Given the description of an element on the screen output the (x, y) to click on. 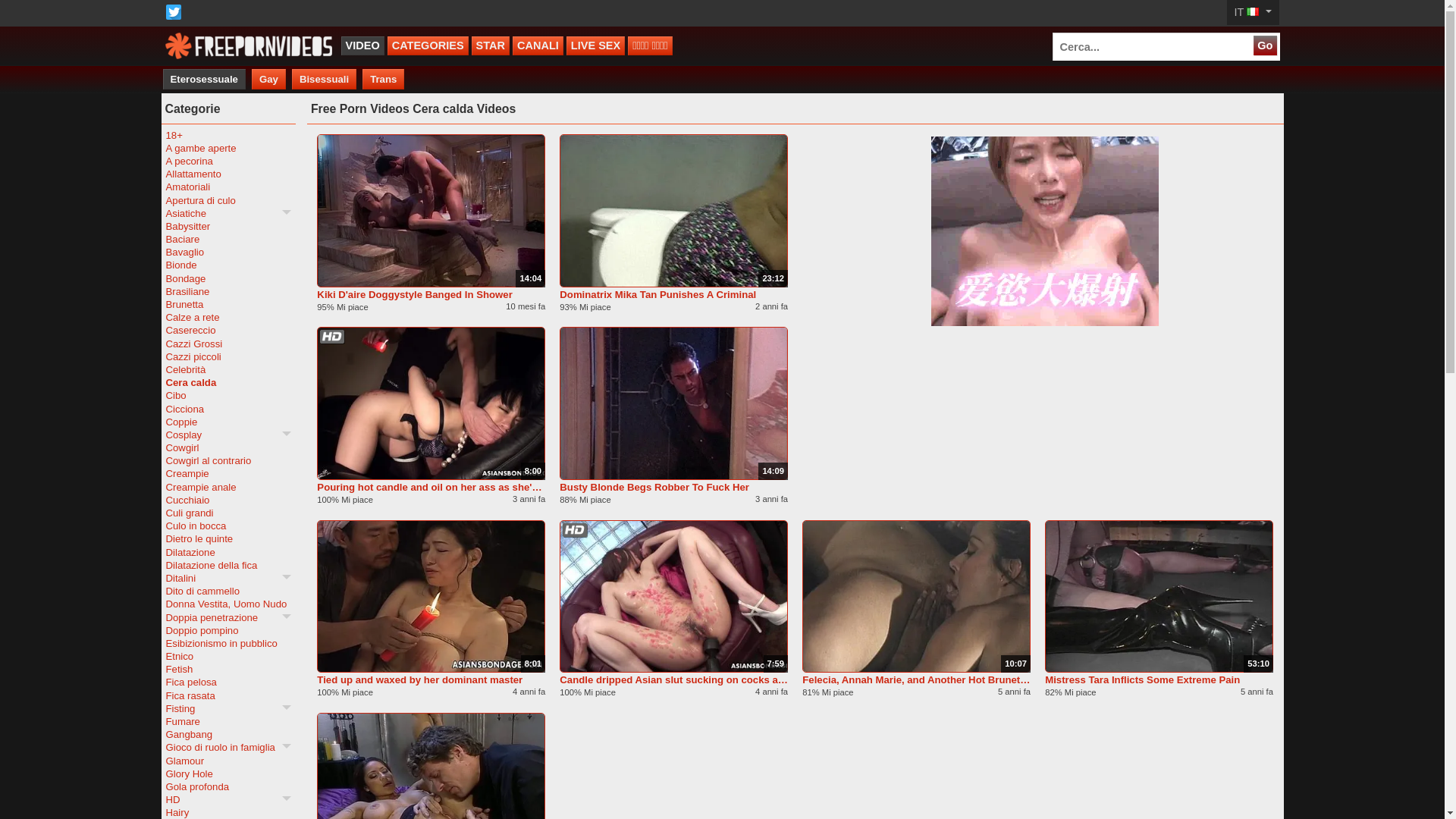
CATEGORIES Element type: text (427, 45)
Fetish Element type: text (228, 668)
Culi grandi Element type: text (228, 512)
Gay Element type: text (268, 79)
Coppie Element type: text (228, 421)
Creampie anale Element type: text (228, 486)
14:04 Element type: text (430, 210)
Cowgirl Element type: text (228, 447)
Go Element type: text (1264, 45)
Cowgirl al contrario Element type: text (228, 460)
Etnico Element type: text (228, 655)
Dominatrix Mika Tan Punishes A Criminal Element type: text (673, 294)
Gioco di ruolo in famiglia Element type: text (228, 746)
Ditalini Element type: text (228, 577)
Tied up and waxed by her dominant master Element type: text (430, 679)
HD Element type: text (228, 799)
14:09 Element type: text (673, 403)
Glamour Element type: text (228, 760)
Doppio pompino Element type: text (228, 630)
Busty Blonde Begs Robber To Fuck Her Element type: text (673, 487)
Fica pelosa Element type: text (228, 681)
Glory Hole Element type: text (228, 773)
53:10 Element type: text (1158, 596)
STAR Element type: text (490, 45)
Bionde Element type: text (228, 264)
Cera calda Element type: text (228, 382)
Cazzi Grossi Element type: text (228, 343)
Bondage Element type: text (228, 278)
A gambe aperte Element type: text (228, 147)
Allattamento Element type: text (228, 173)
Cibo Element type: text (228, 395)
Amatoriali Element type: text (228, 186)
Dito di cammello Element type: text (228, 590)
Fumare Element type: text (228, 721)
Brunetta Element type: text (228, 304)
Gola profonda Element type: text (228, 786)
Cazzi piccoli Element type: text (228, 356)
Fisting Element type: text (228, 708)
Casereccio Element type: text (228, 329)
Dilatazione Element type: text (228, 552)
Cucchiaio Element type: text (228, 499)
8:00 Element type: text (430, 403)
7:59 Element type: text (673, 596)
LIVE SEX Element type: text (595, 45)
Cicciona Element type: text (228, 407)
10:07 Element type: text (916, 596)
Brasiliane Element type: text (228, 291)
Dietro le quinte Element type: text (228, 538)
18+ Element type: text (228, 134)
23:12 Element type: text (673, 210)
CANALI Element type: text (537, 45)
Babysitter Element type: text (228, 225)
Gangbang Element type: text (228, 734)
Baciare Element type: text (228, 238)
Culo in bocca Element type: text (228, 525)
Mistress Tara Inflicts Some Extreme Pain Element type: text (1158, 679)
Doppia penetrazione Element type: text (228, 617)
8:01 Element type: text (430, 596)
Eterosessuale Element type: text (203, 79)
Bavaglio Element type: text (228, 251)
Cosplay Element type: text (228, 434)
Bisessuali Element type: text (323, 79)
Asiatiche Element type: text (228, 213)
Apertura di culo Element type: text (228, 200)
Calze a rete Element type: text (228, 316)
Creampie Element type: text (228, 473)
Dilatazione della fica Element type: text (228, 564)
Fica rasata Element type: text (228, 695)
Trans Element type: text (383, 79)
A pecorina Element type: text (228, 160)
Kiki D'aire Doggystyle Banged In Shower Element type: text (430, 294)
Esibizionismo in pubblico Element type: text (228, 643)
VIDEO Element type: text (362, 45)
Candle dripped Asian slut sucking on cocks and she loves the Element type: text (673, 679)
Pouring hot candle and oil on her ass as she's fucked Element type: text (430, 487)
Donna Vestita, Uomo Nudo Element type: text (228, 603)
IT Element type: text (1252, 12)
